Given the description of an element on the screen output the (x, y) to click on. 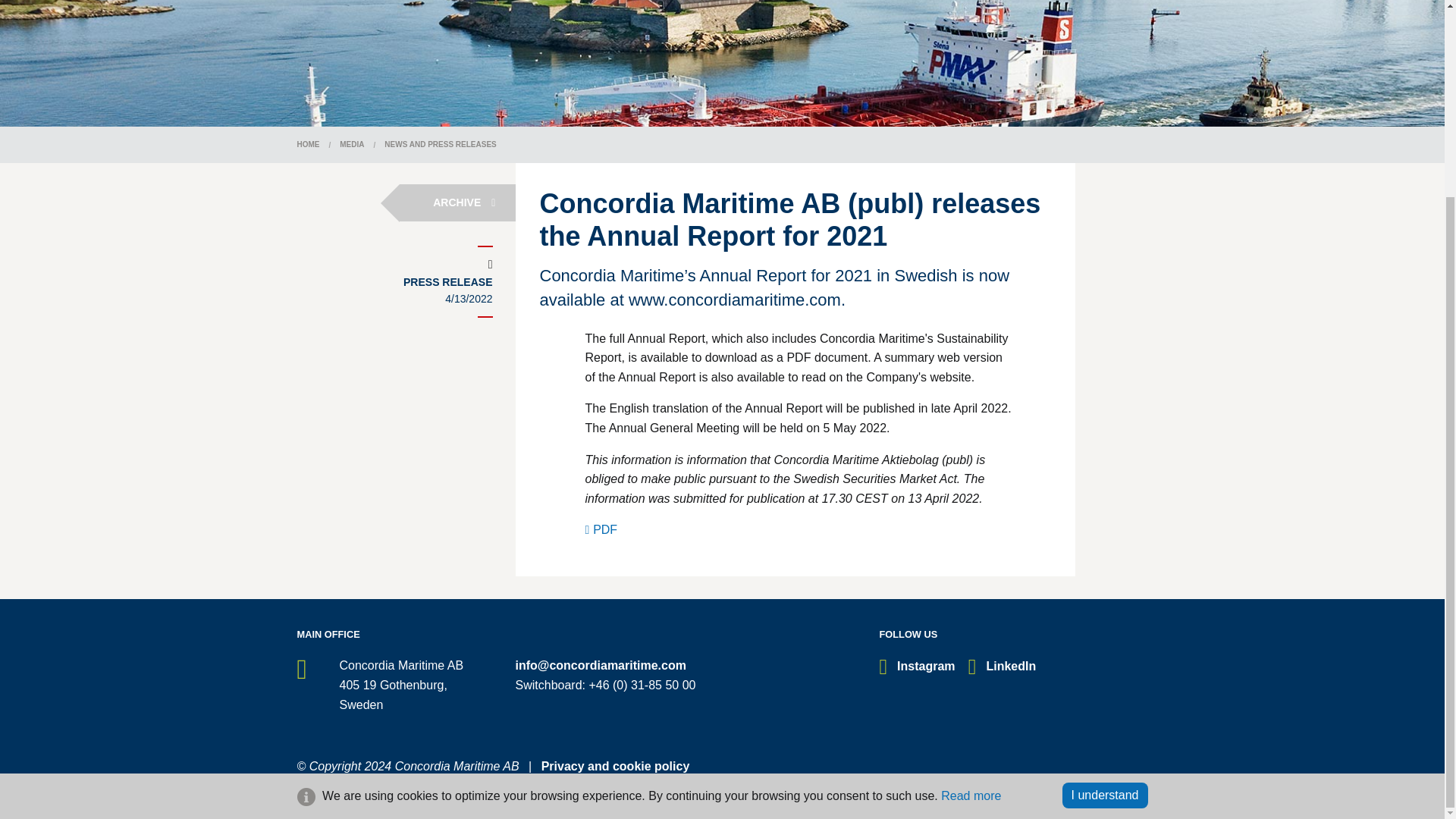
LinkedIn (1001, 666)
Privacy and cookie policy (615, 766)
Read more (970, 545)
MEDIA (351, 144)
HOME (308, 144)
PDF (601, 529)
NEWS AND PRESS RELEASES (440, 144)
ARCHIVE (456, 202)
Instagram (917, 666)
